Given the description of an element on the screen output the (x, y) to click on. 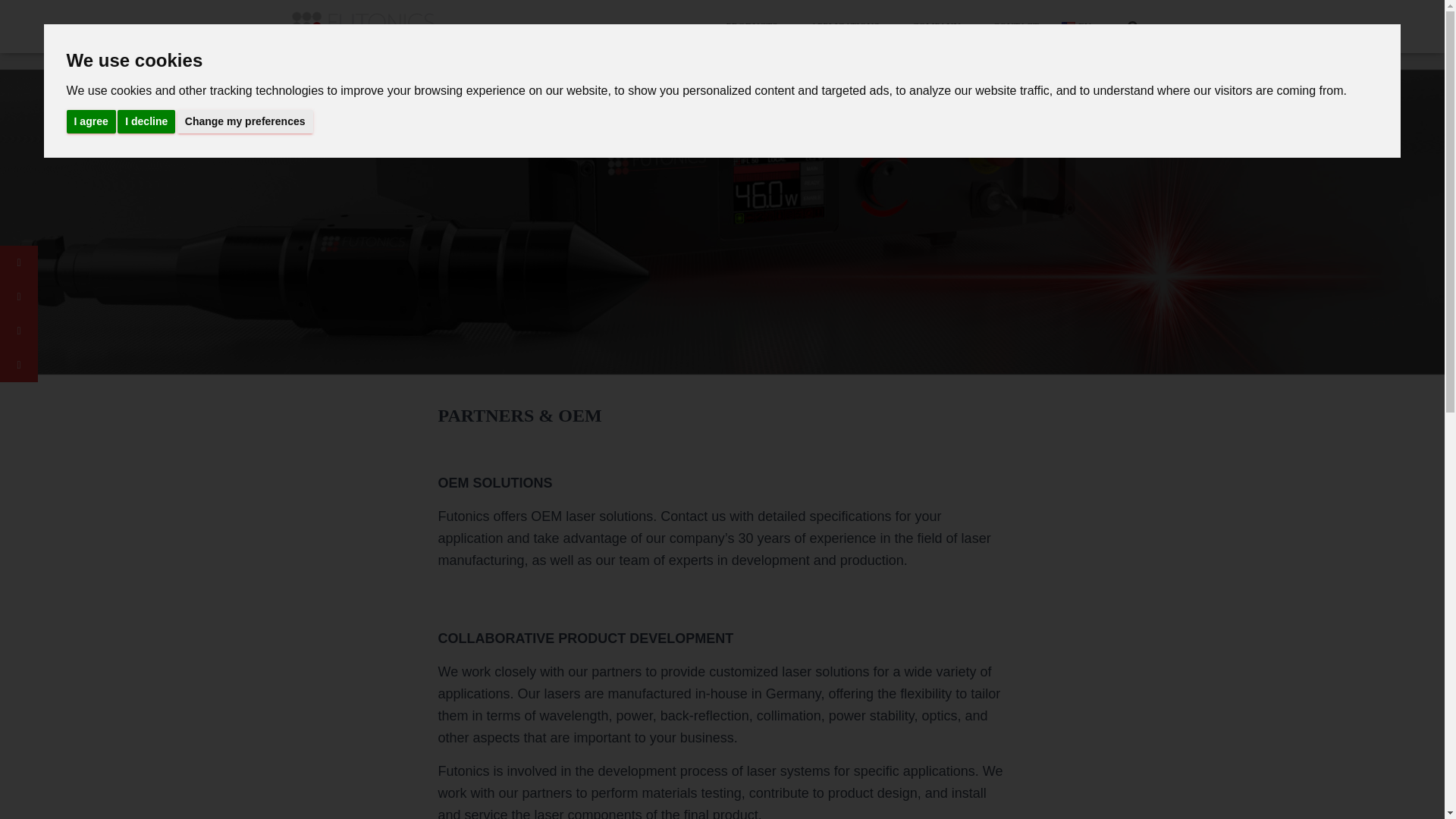
CONTACT (1015, 26)
COMPANY (941, 26)
EN (1081, 26)
Change my preferences (245, 121)
I decline (145, 121)
2-micron single mode fiber laser systems (363, 26)
APPLICATIONS (850, 26)
PRODUCTS (756, 26)
Products (756, 26)
I agree (91, 121)
Update cookies preferences (66, 8)
